Given the description of an element on the screen output the (x, y) to click on. 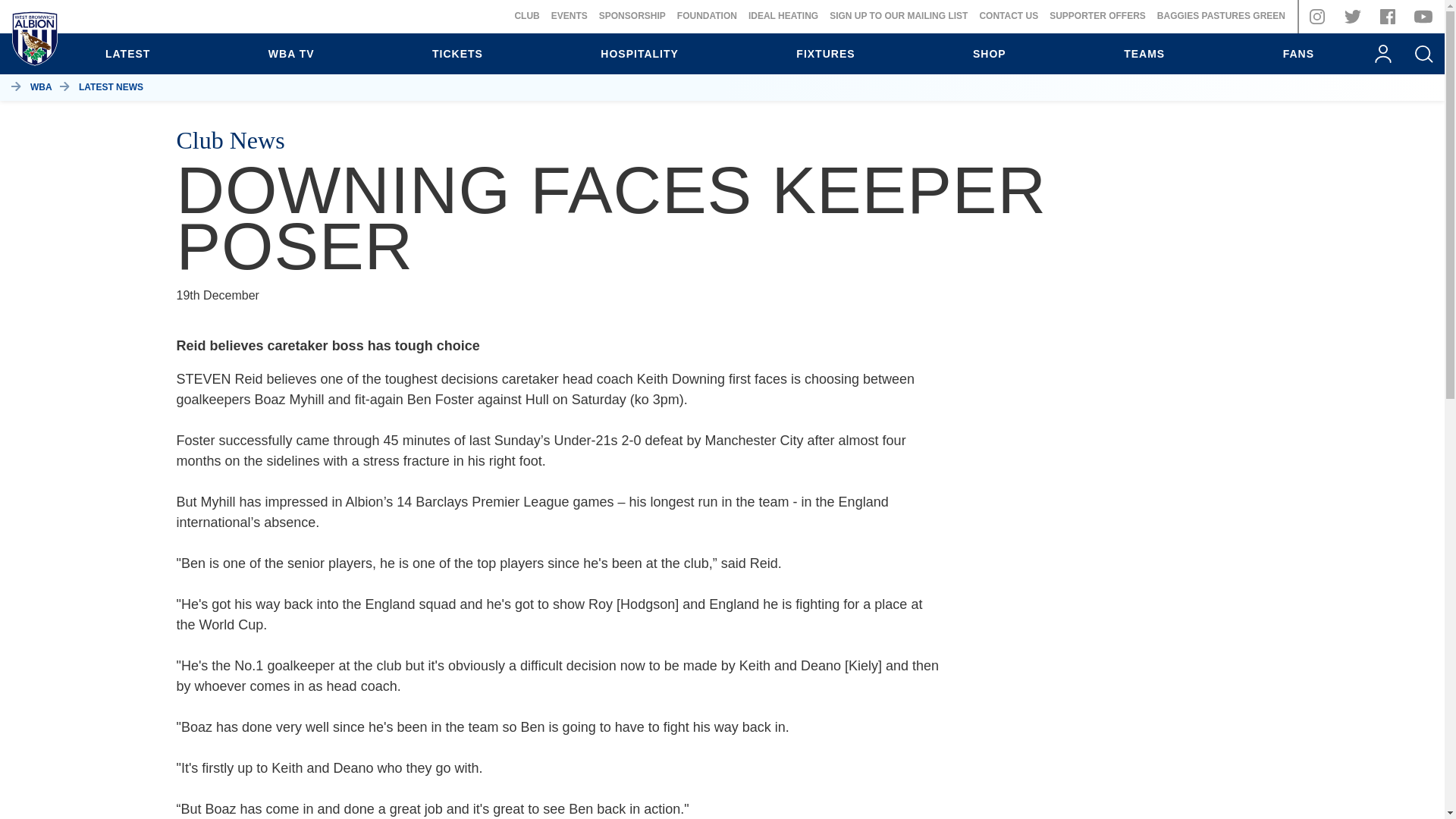
The Albion Foundation (706, 15)
CONTACT US (1008, 15)
Latest (127, 53)
CLUB (525, 15)
SIGN UP TO OUR MAILING LIST (898, 15)
BAGGIES PASTURES GREEN (1221, 15)
IDEAL HEATING (783, 15)
FOUNDATION (706, 15)
SPONSORSHIP (631, 15)
SUPPORTER OFFERS (1097, 15)
